Given the description of an element on the screen output the (x, y) to click on. 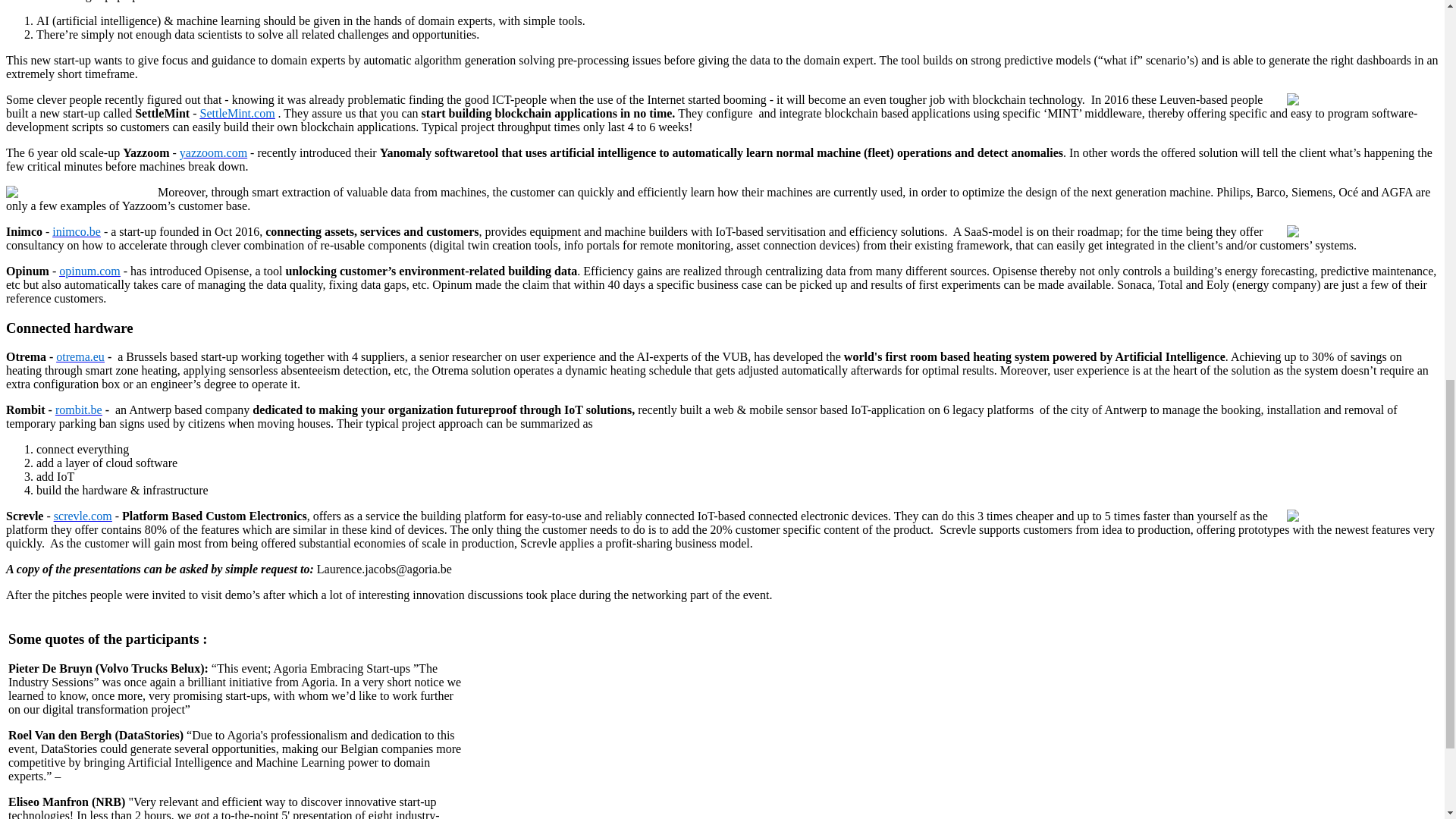
inimco.be (76, 231)
yazzoom.com (213, 152)
screvle.com (82, 515)
opinum.com (89, 270)
otrema.eu (80, 356)
SettleMint.com (237, 113)
rombit.be (78, 409)
